Given the description of an element on the screen output the (x, y) to click on. 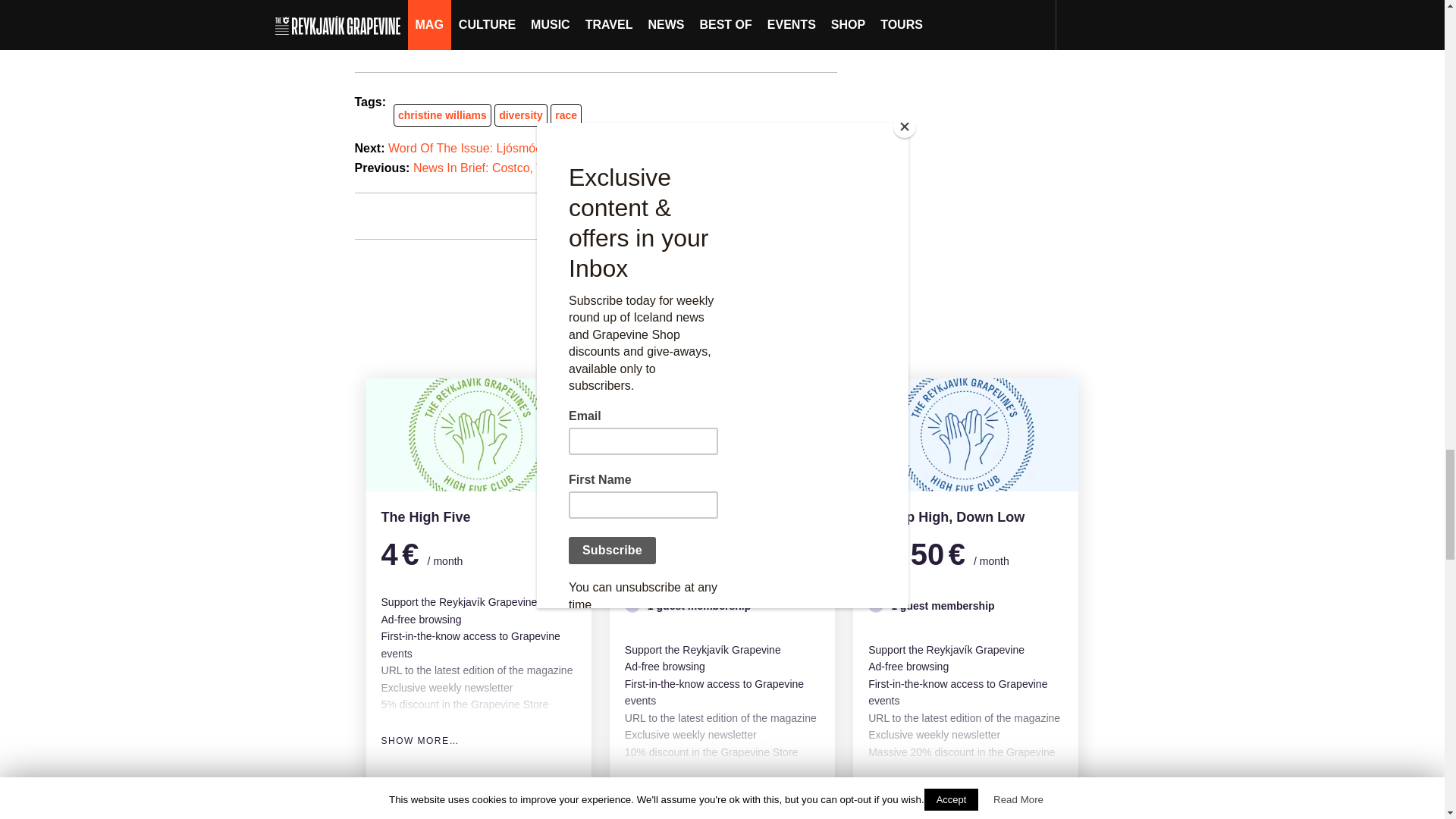
christine williams (441, 114)
Police Investigate Canadian Modelling Agency (582, 16)
